Given the description of an element on the screen output the (x, y) to click on. 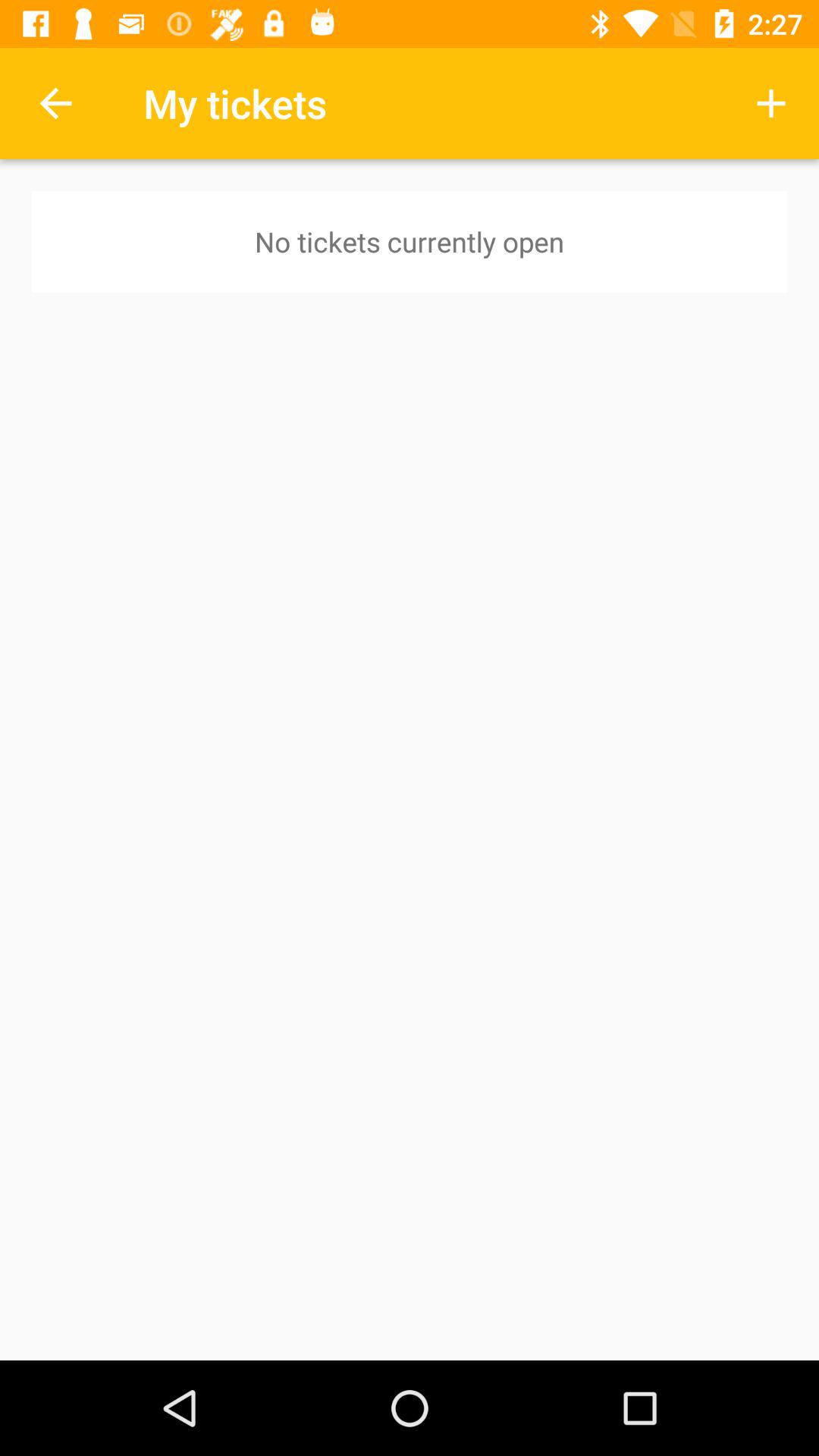
turn on item to the right of the my tickets item (771, 103)
